Given the description of an element on the screen output the (x, y) to click on. 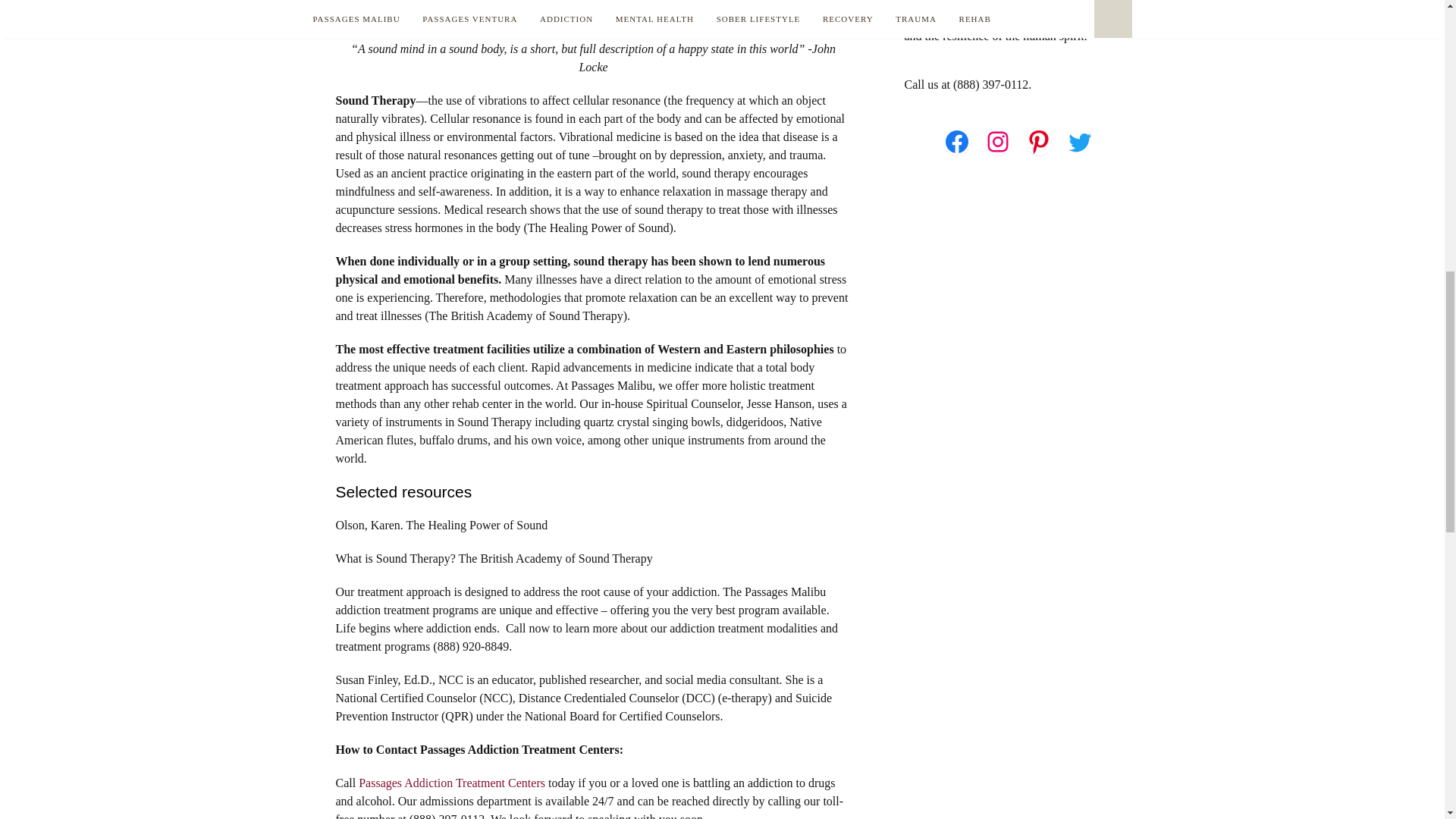
Passages Addiction Treatment Centers (451, 782)
